Given the description of an element on the screen output the (x, y) to click on. 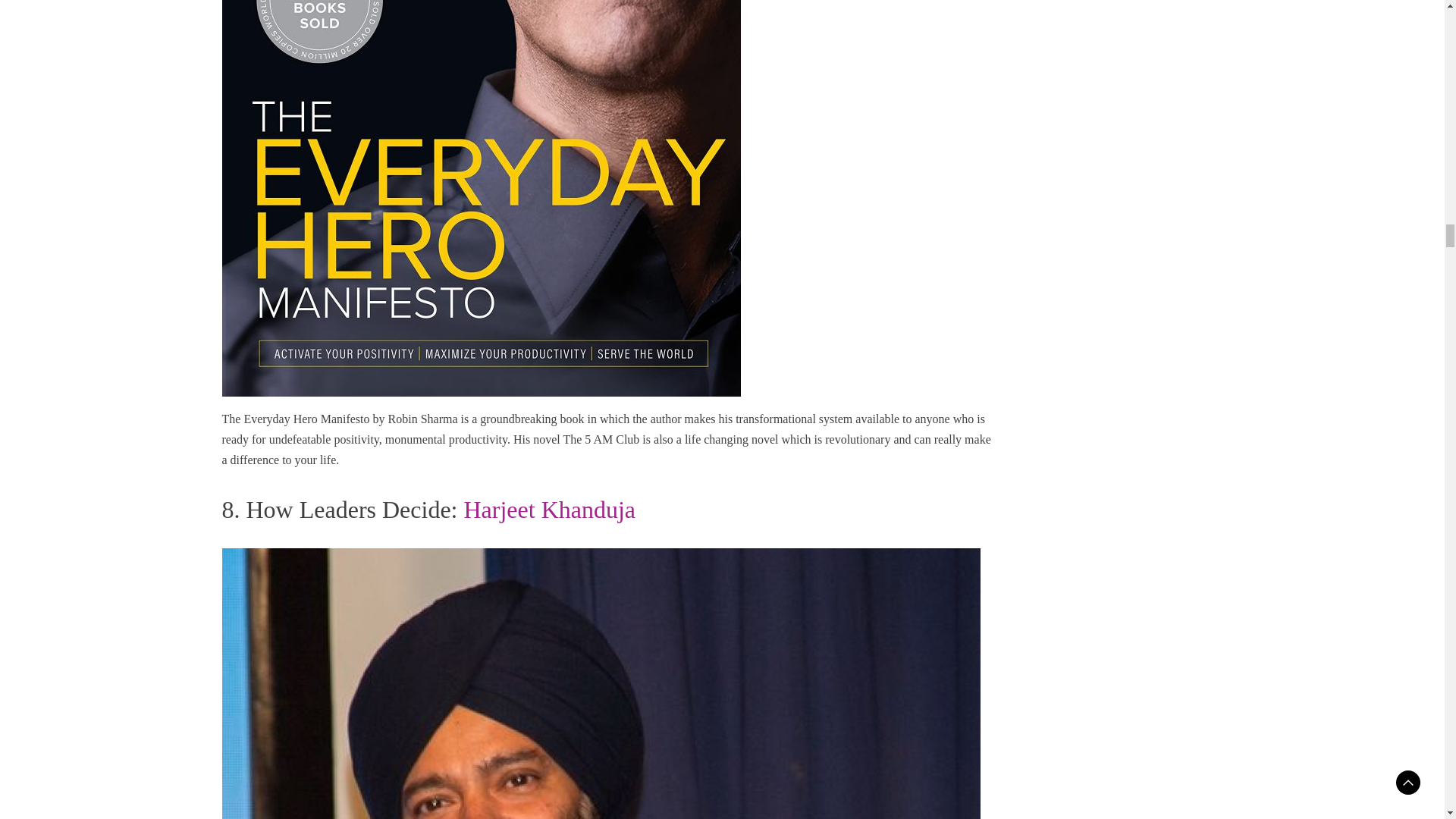
Harjeet Khanduja (548, 509)
